Given the description of an element on the screen output the (x, y) to click on. 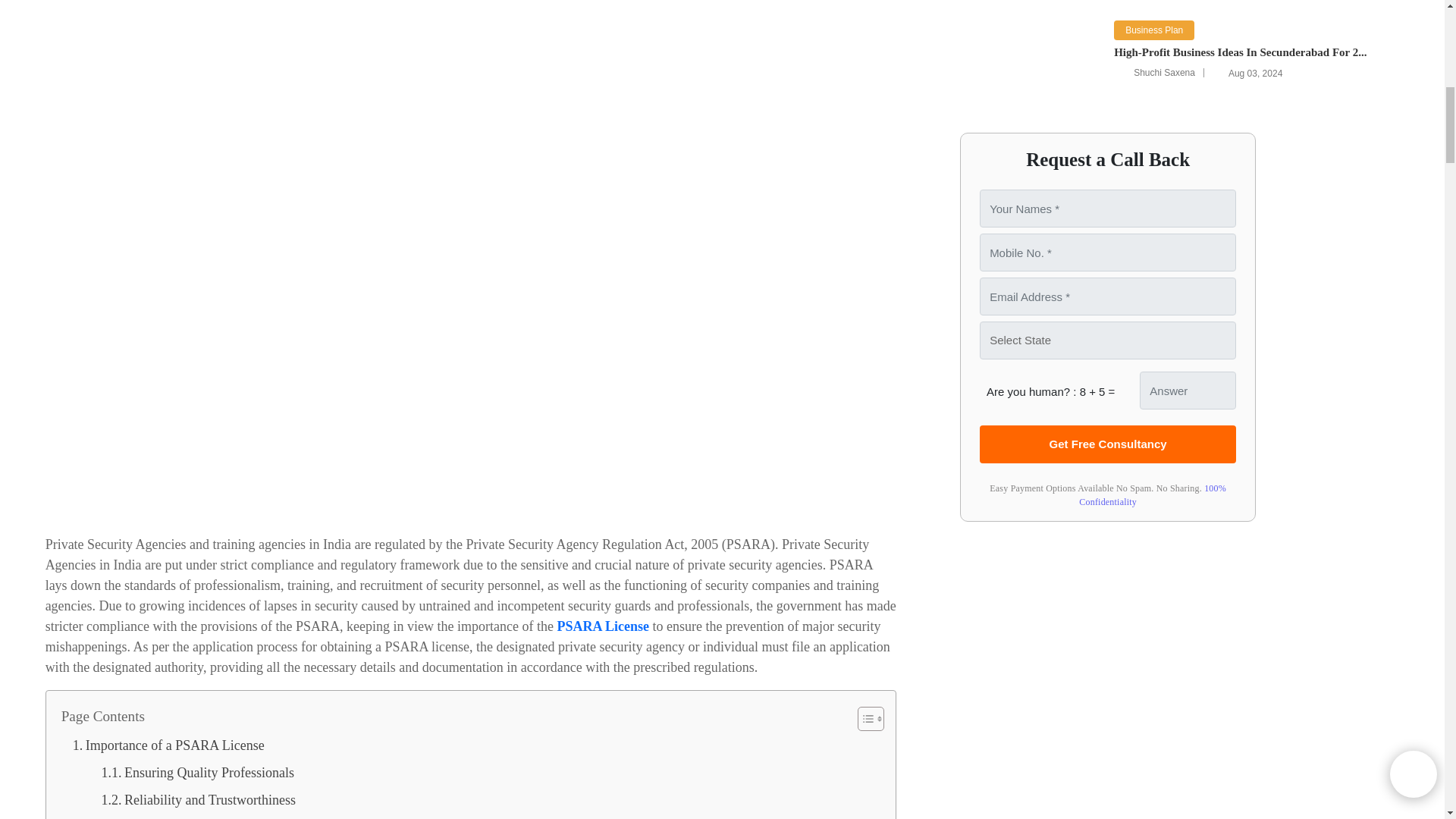
Importance of a PSARA License (168, 745)
Get Free Consultancy (1107, 444)
Reliability and Trustworthiness (197, 800)
Ensuring Quality Professionals (197, 772)
Alignment with International Security Standards (211, 816)
